Given the description of an element on the screen output the (x, y) to click on. 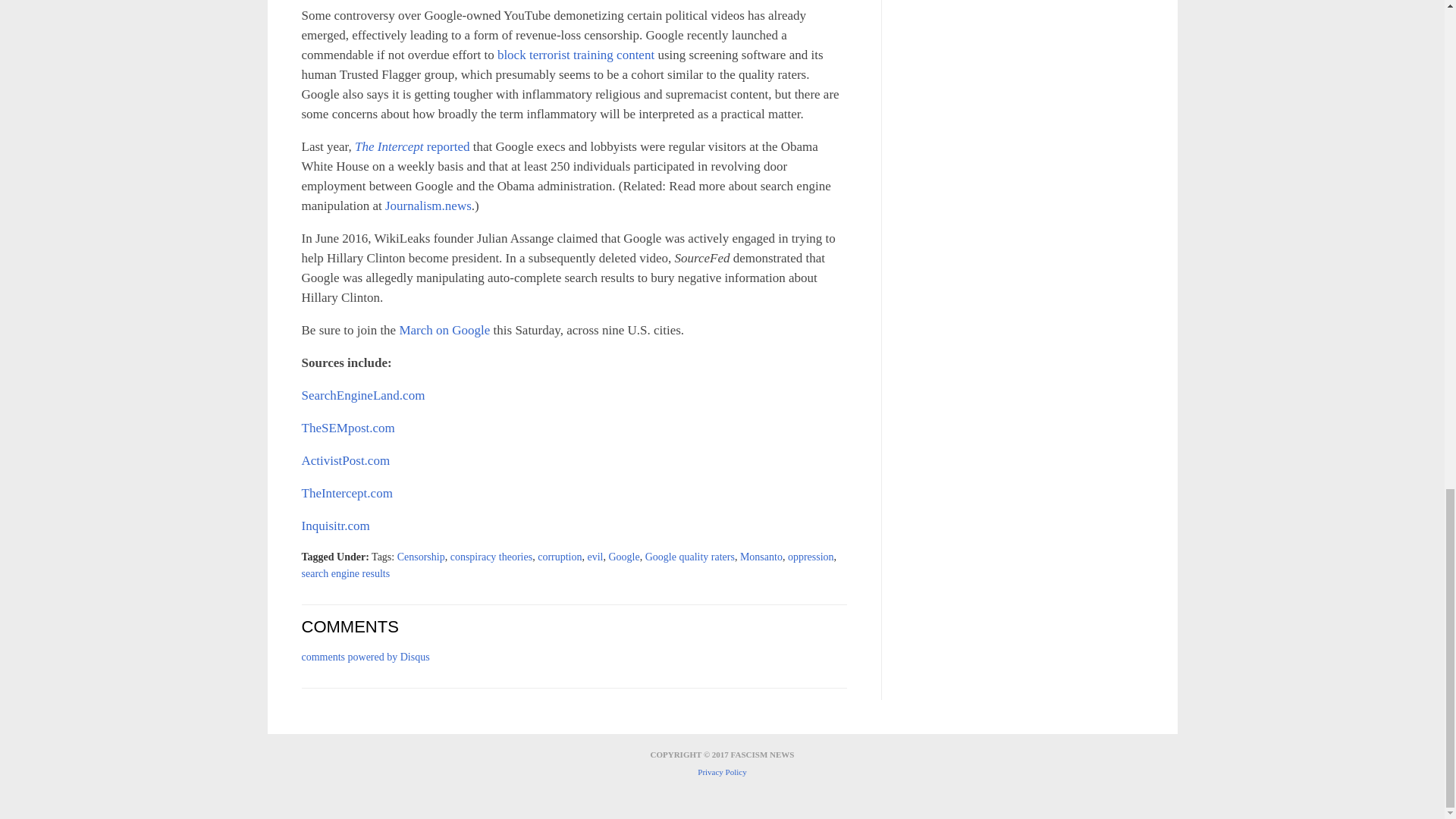
Inquisitr.com (335, 525)
TheIntercept.com (347, 493)
block terrorist training content (575, 54)
SearchEngineLand.com (363, 395)
ActivistPost.com (345, 460)
Journalism.news (428, 205)
TheSEMpost.com (347, 427)
March on Google (443, 329)
The Intercept reported (411, 146)
